Given the description of an element on the screen output the (x, y) to click on. 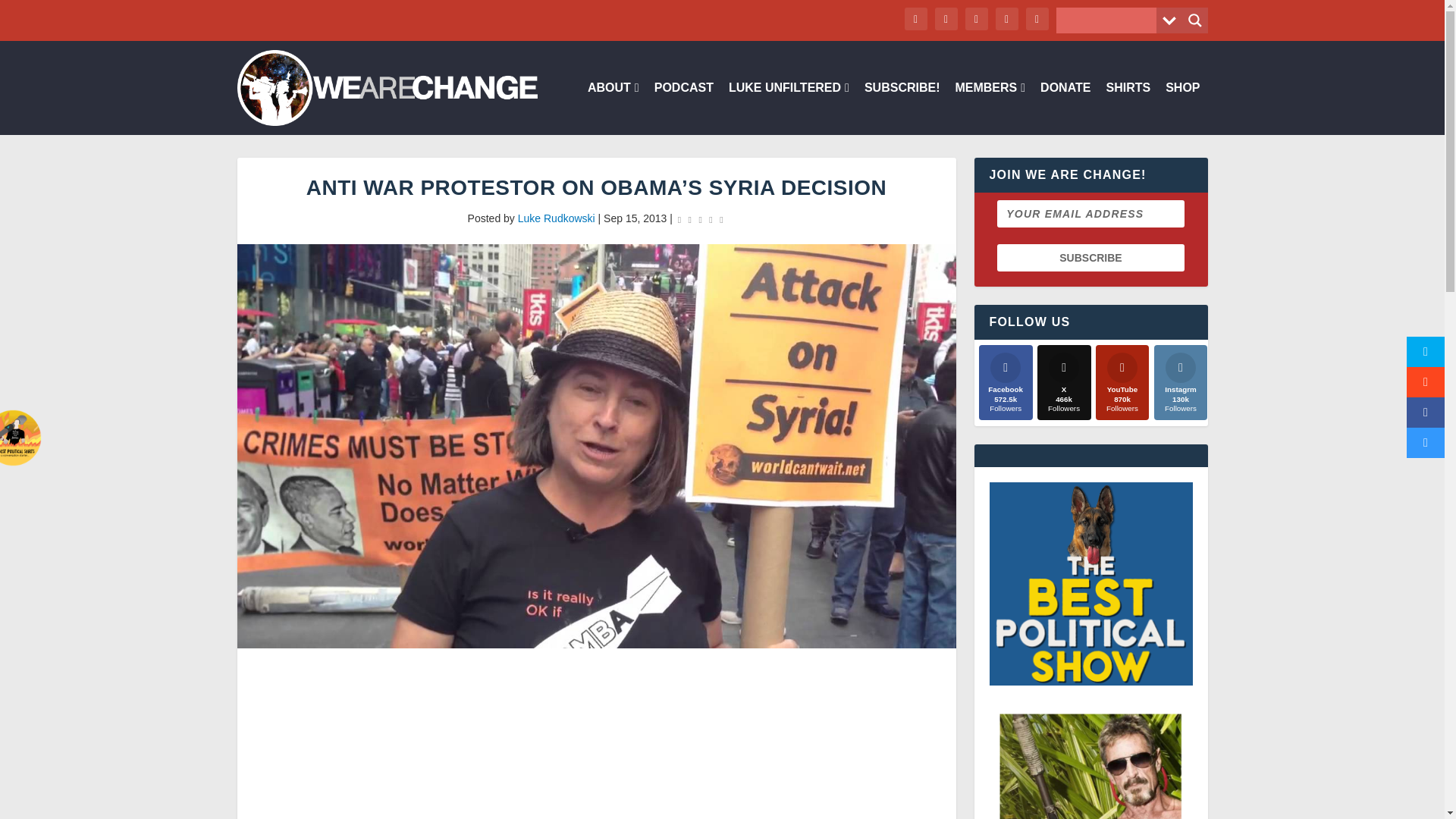
MEMBERS (990, 108)
Rating: 0.00 (700, 219)
SUBSCRIBE! (902, 108)
PODCAST (683, 108)
About (613, 108)
DONATE (1065, 108)
Posts by Luke Rudkowski (556, 218)
LUKE UNFILTERED (788, 108)
ABOUT (613, 108)
Subscribe (1090, 257)
